Given the description of an element on the screen output the (x, y) to click on. 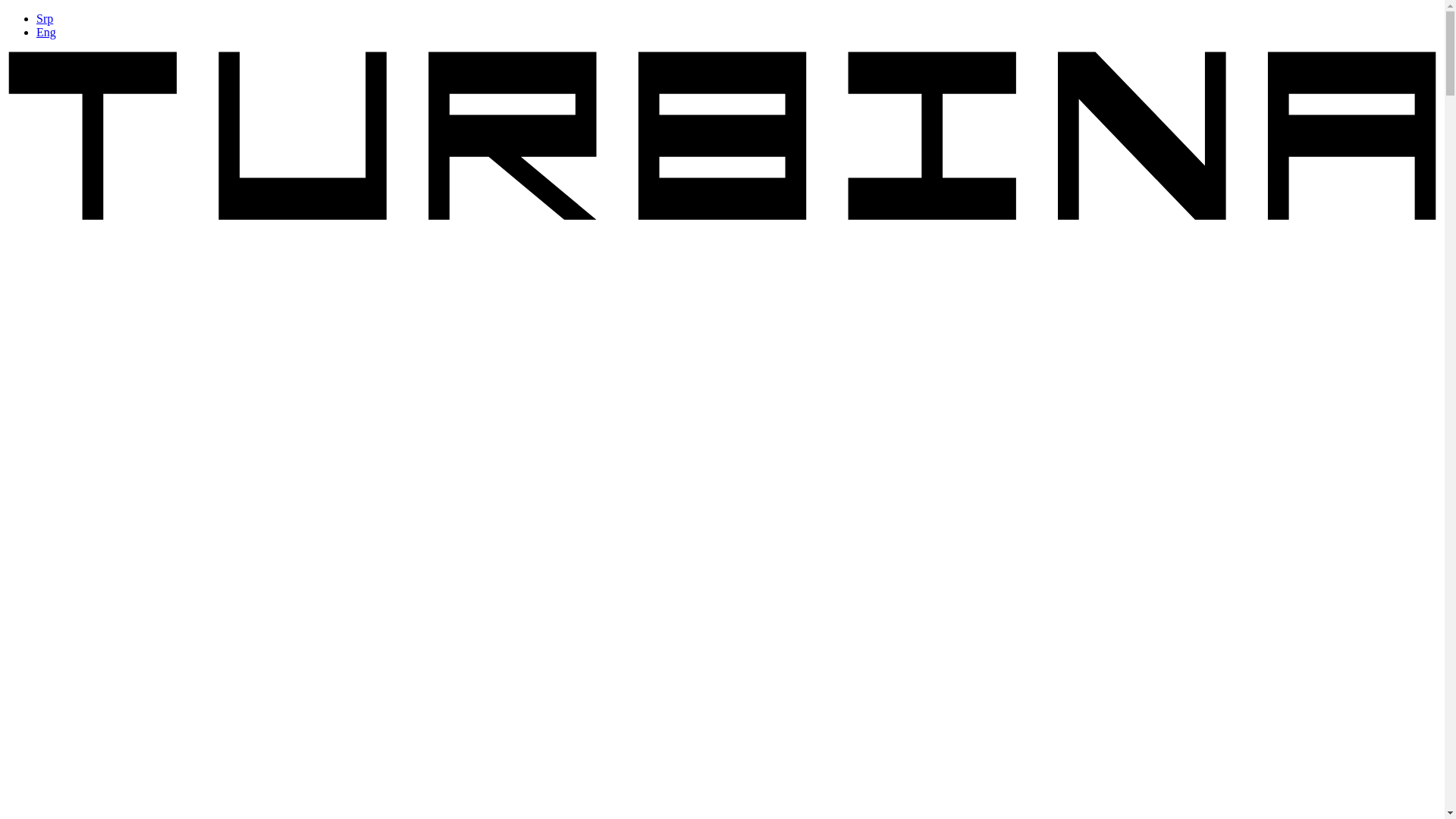
Srp (44, 18)
Eng (46, 31)
